Given the description of an element on the screen output the (x, y) to click on. 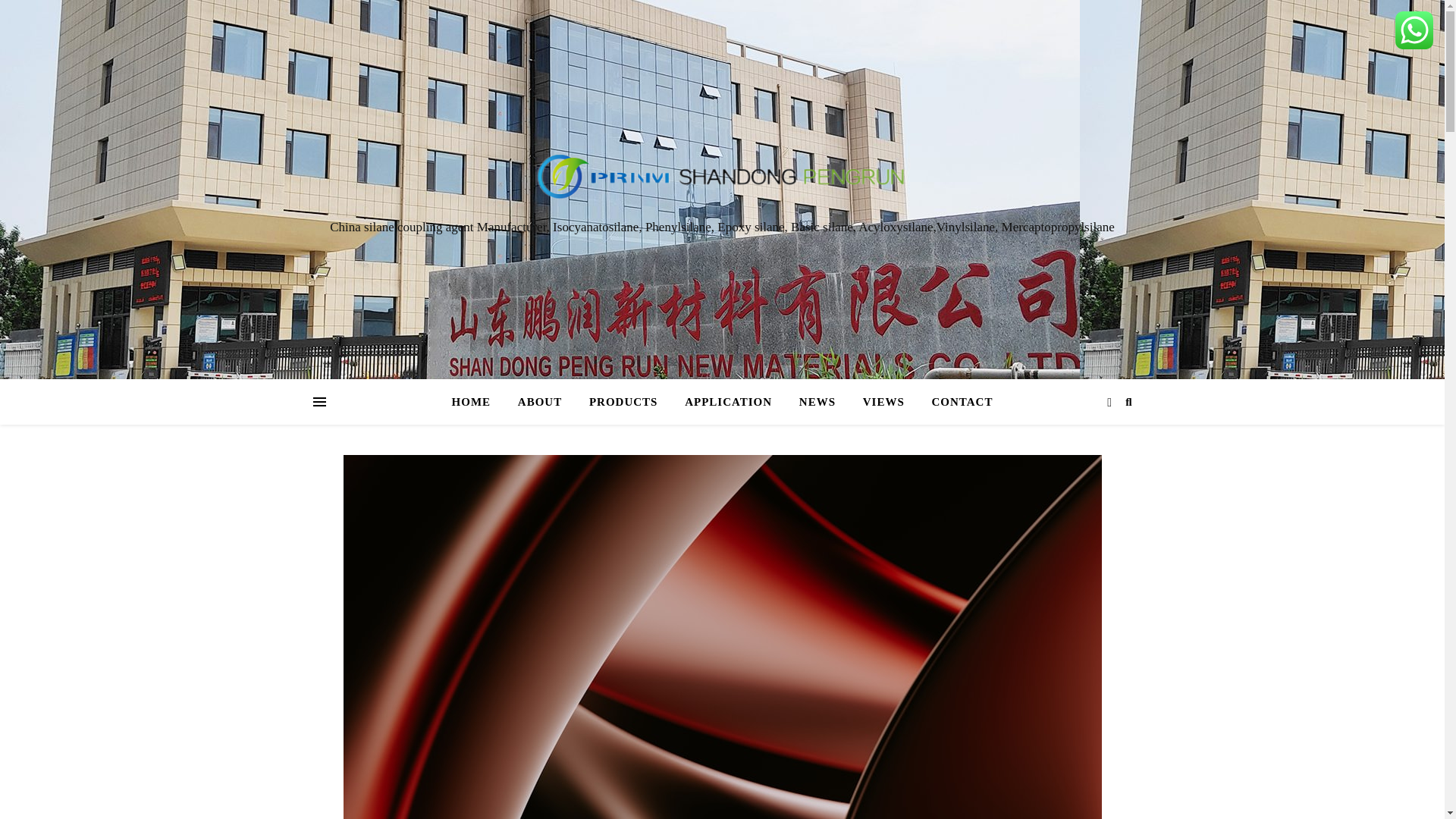
CONTACT (956, 402)
ABOUT (539, 402)
Shandong Pengrun New Materials Co., Ltd. (721, 175)
PRODUCTS (622, 402)
HOME (477, 402)
VIEWS (883, 402)
APPLICATION (728, 402)
NEWS (817, 402)
